Given the description of an element on the screen output the (x, y) to click on. 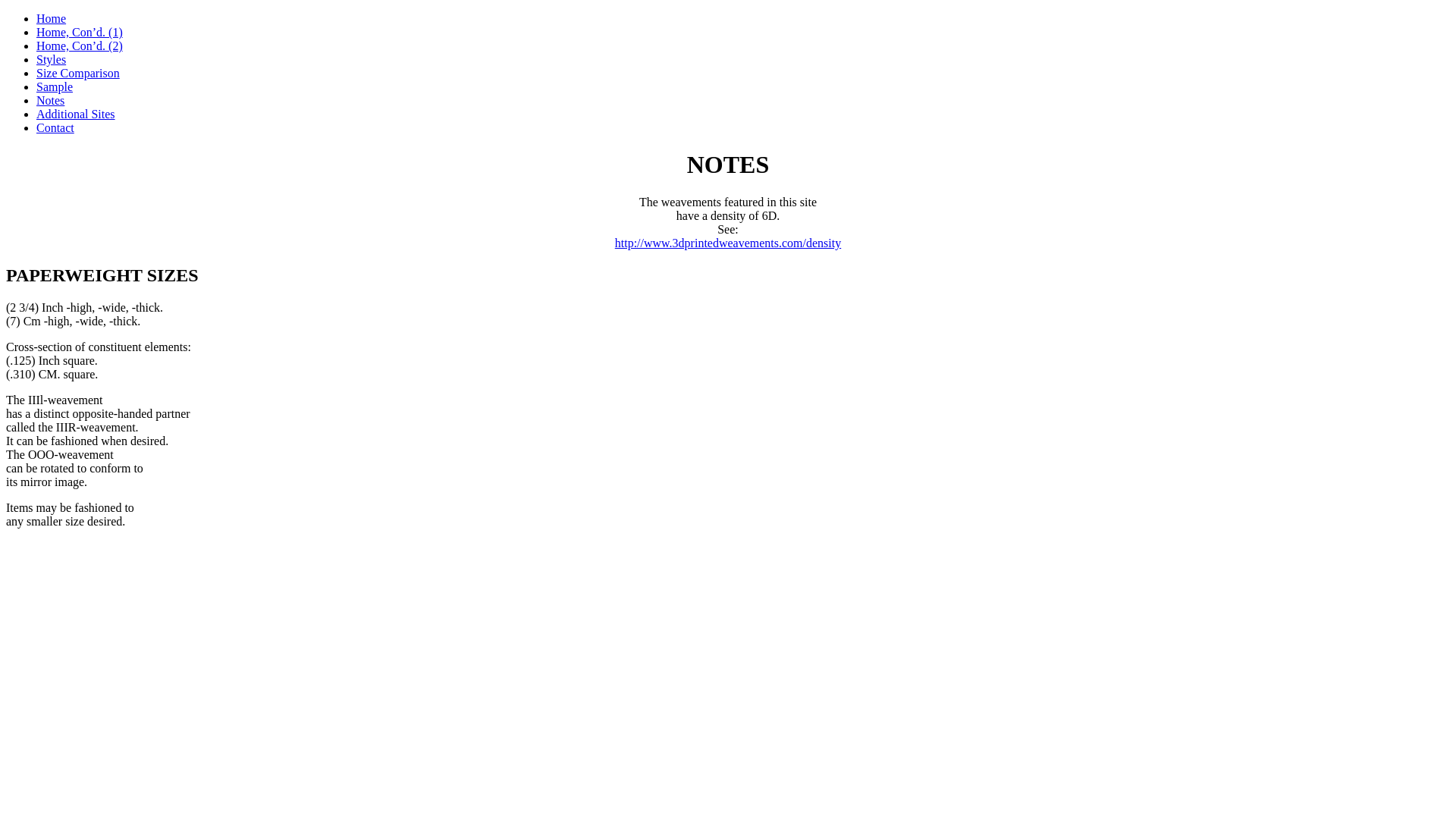
Size Comparison Element type: text (77, 72)
Notes Element type: text (50, 100)
Styles Element type: text (50, 59)
Sample Element type: text (54, 86)
Home Element type: text (50, 18)
Contact Element type: text (55, 127)
http://www.3dprintedweavements.com/density Element type: text (727, 242)
Additional Sites Element type: text (75, 113)
